Given the description of an element on the screen output the (x, y) to click on. 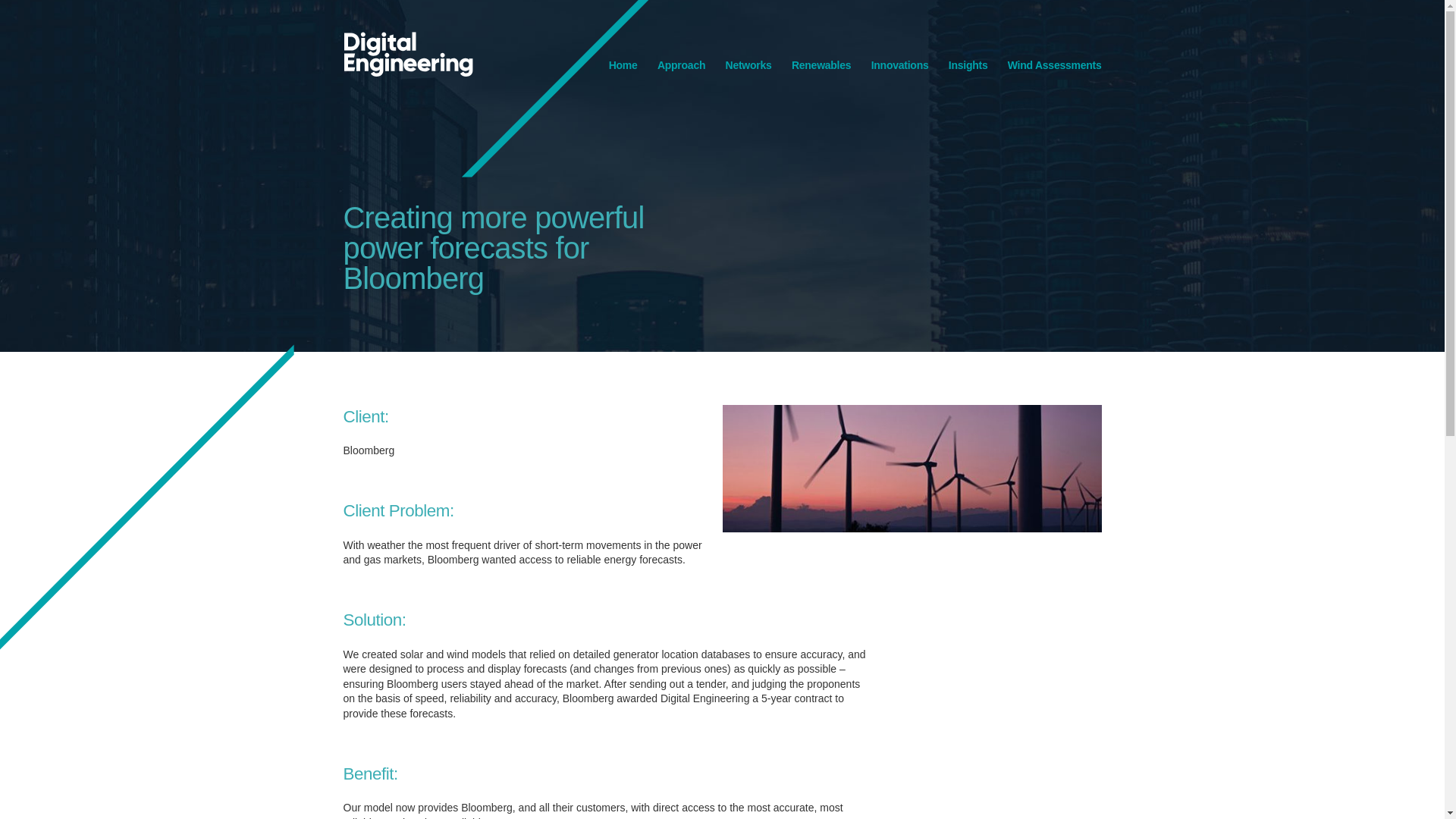
Approach (681, 64)
Innovations (899, 64)
Insights (968, 64)
Wind Assessments (1054, 64)
Home (622, 64)
Renewables (821, 64)
Networks (748, 64)
